Given the description of an element on the screen output the (x, y) to click on. 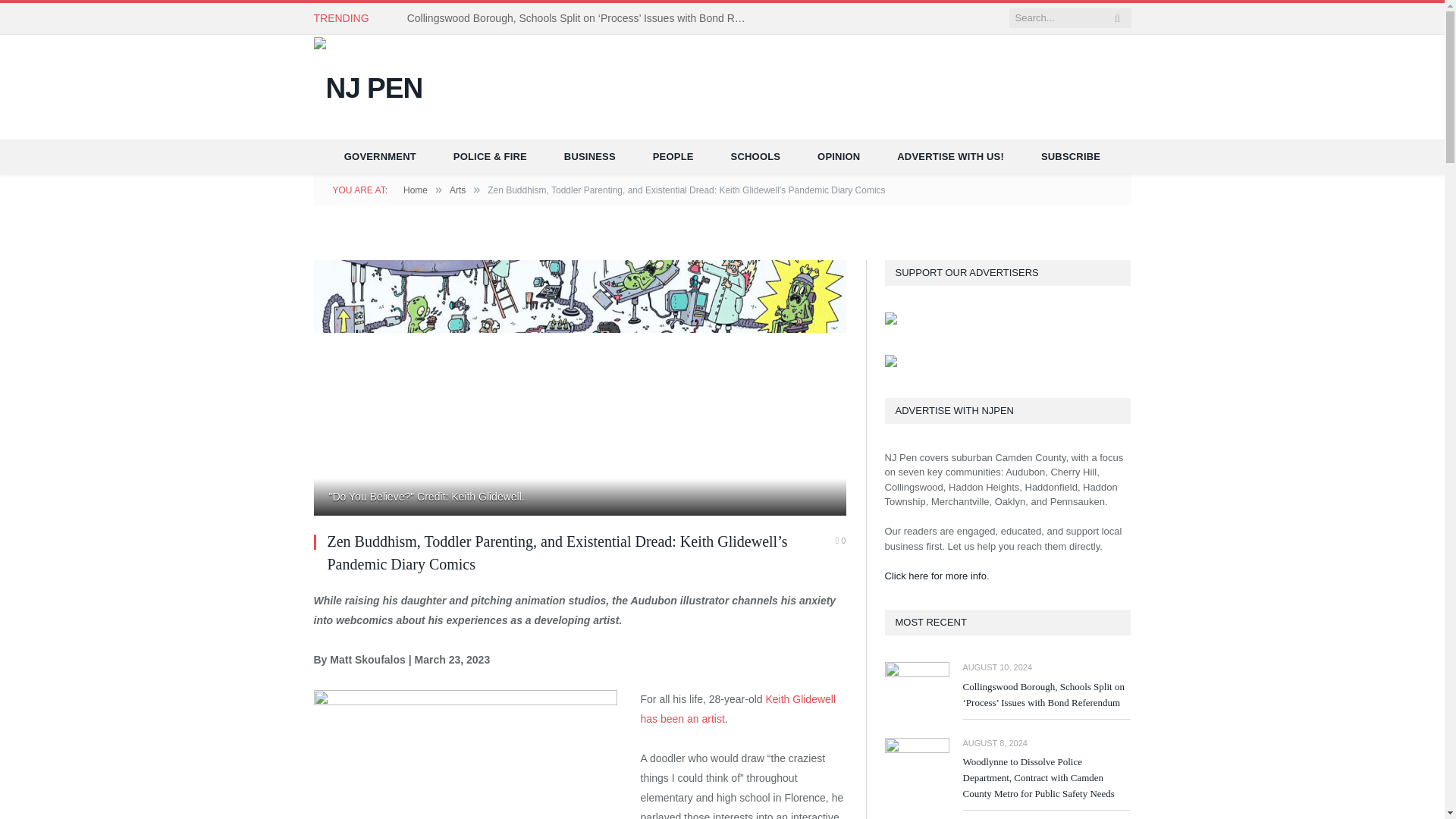
ADVERTISE WITH US! (951, 156)
GOVERNMENT (379, 156)
PEOPLE (673, 156)
OPINION (838, 156)
SCHOOLS (755, 156)
NJ PEN (368, 85)
Keith Glidewell has been an artist (737, 708)
Arts (457, 190)
Home (415, 190)
BUSINESS (590, 156)
